Given the description of an element on the screen output the (x, y) to click on. 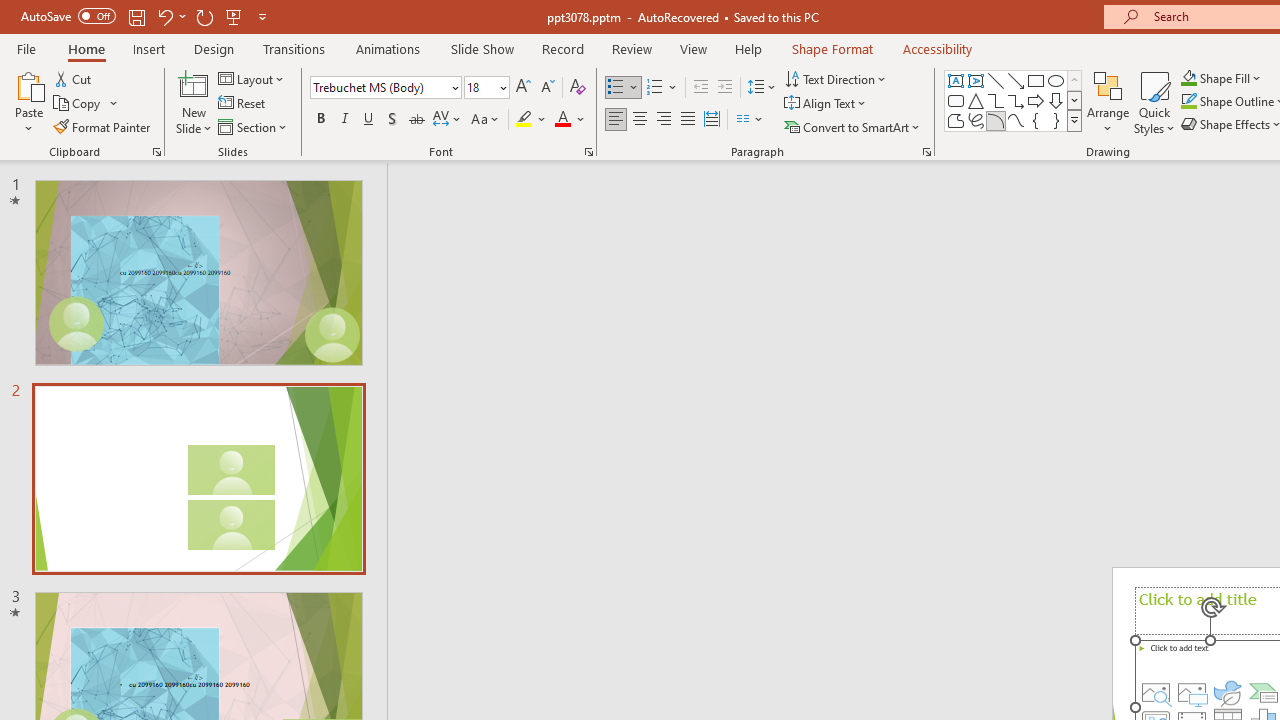
Insert an Icon (1228, 692)
